Given the description of an element on the screen output the (x, y) to click on. 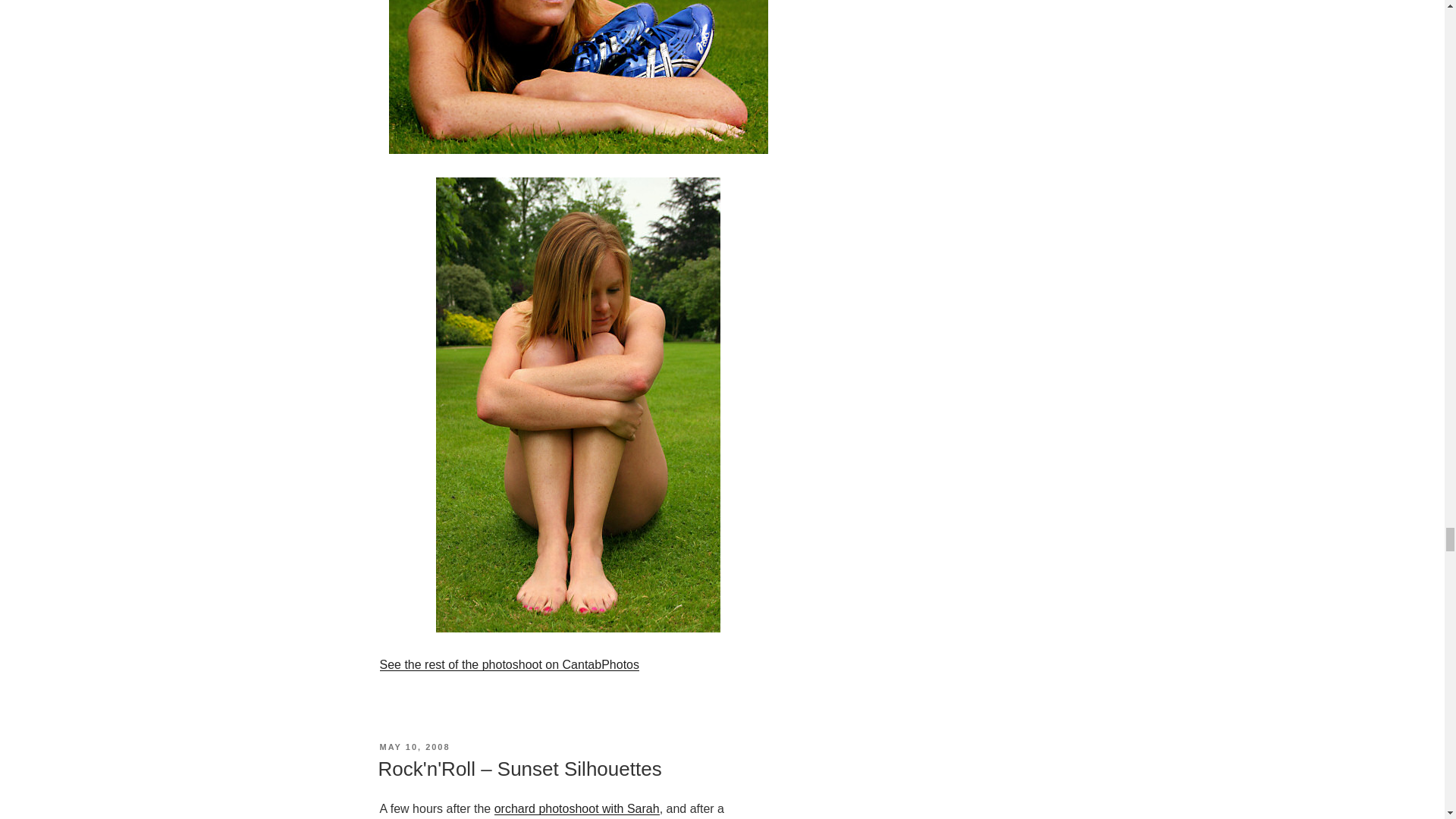
orchard photoshoot with Sarah (577, 808)
See the rest of the photoshoot on CantabPhotos (508, 664)
MAY 10, 2008 (413, 746)
